Given the description of an element on the screen output the (x, y) to click on. 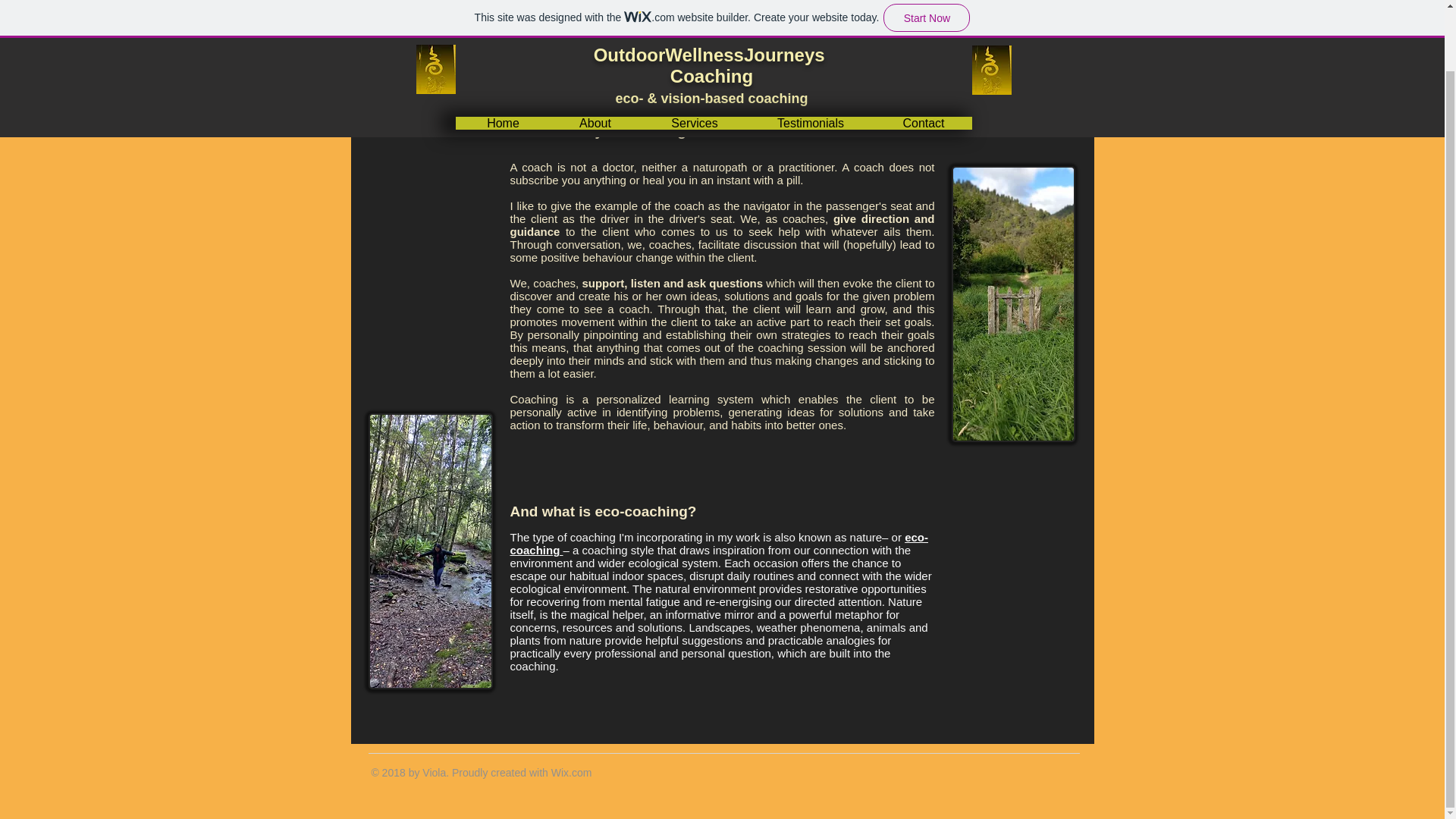
Home (503, 56)
Testimonials (809, 56)
eco-coaching (718, 543)
Contact (923, 56)
Wix.com (571, 772)
